Given the description of an element on the screen output the (x, y) to click on. 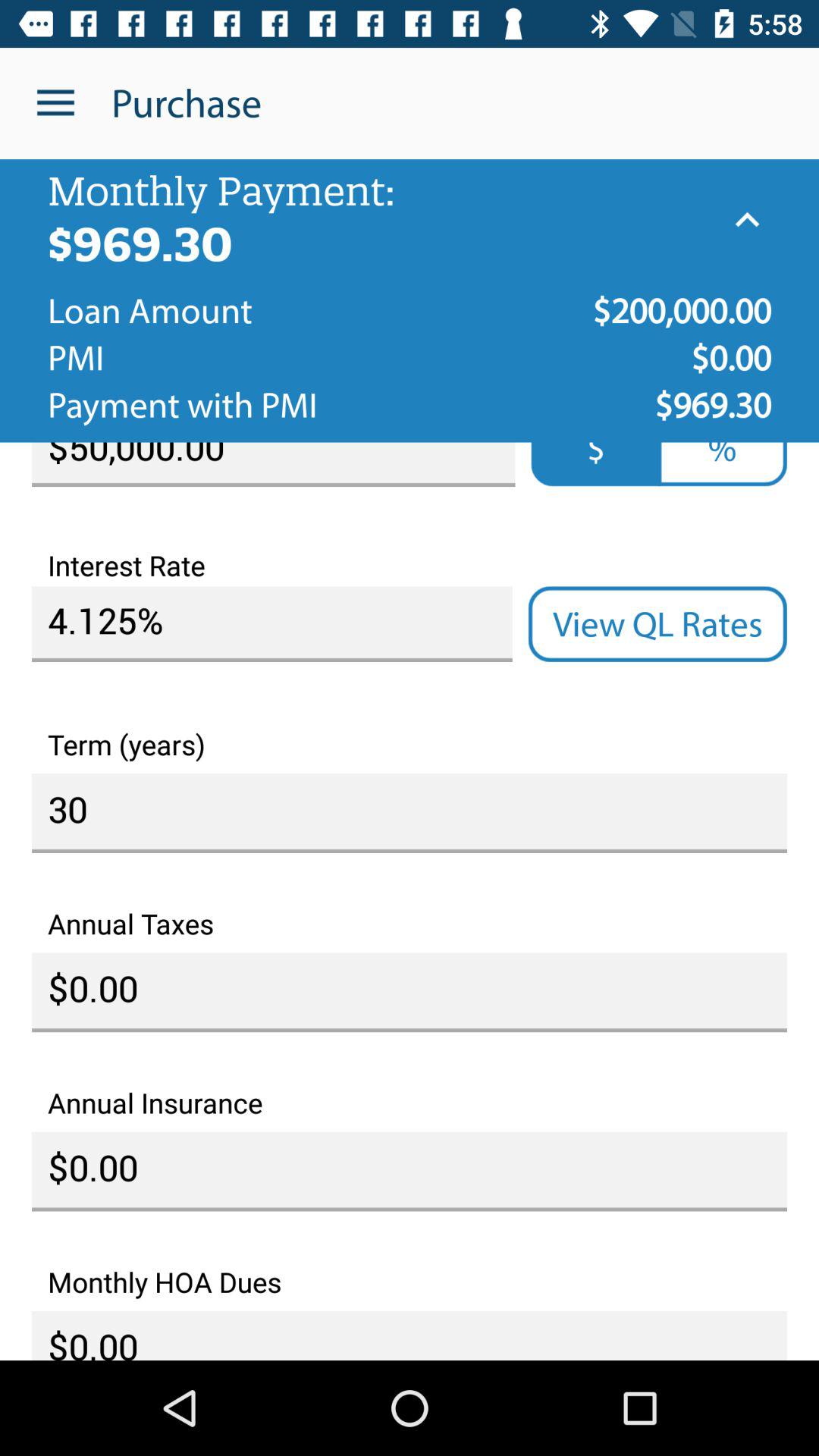
press the item next to $50,000.00 icon (722, 464)
